Given the description of an element on the screen output the (x, y) to click on. 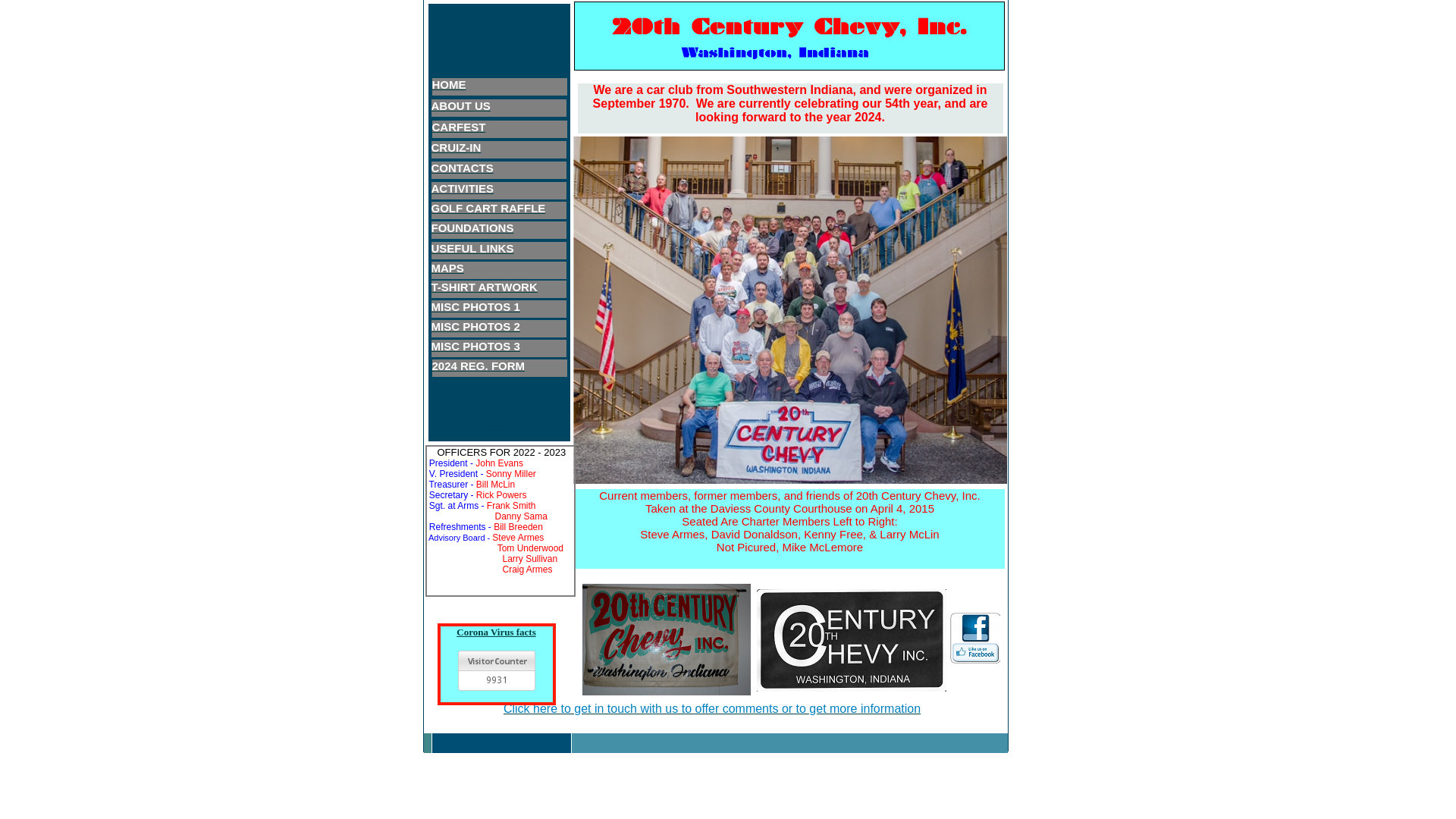
ACTIVITIES Element type: text (461, 189)
MISC PHOTOS 3 Element type: text (474, 346)
T-SHIRT ARTWORK Element type: text (483, 287)
HOME Element type: text (449, 85)
2024 REG. FORM Element type: text (478, 366)
CARFEST Element type: text (459, 127)
MISC PHOTOS 2 Element type: text (474, 327)
FOUNDATIONS Element type: text (471, 228)
GOLF CART RAFFLE Element type: text (487, 208)
MAPS Element type: text (446, 268)
MISC PHOTOS 1 Element type: text (474, 307)
Corona Virus facts Element type: text (495, 631)
CRUIZ-IN Element type: text (455, 148)
USEFUL LINKS Element type: text (471, 249)
This Site Spun with SiteSpinner V2 Element type: hover (495, 411)
CONTACTS Element type: text (461, 168)
ABOUT US Element type: text (459, 106)
